Given the description of an element on the screen output the (x, y) to click on. 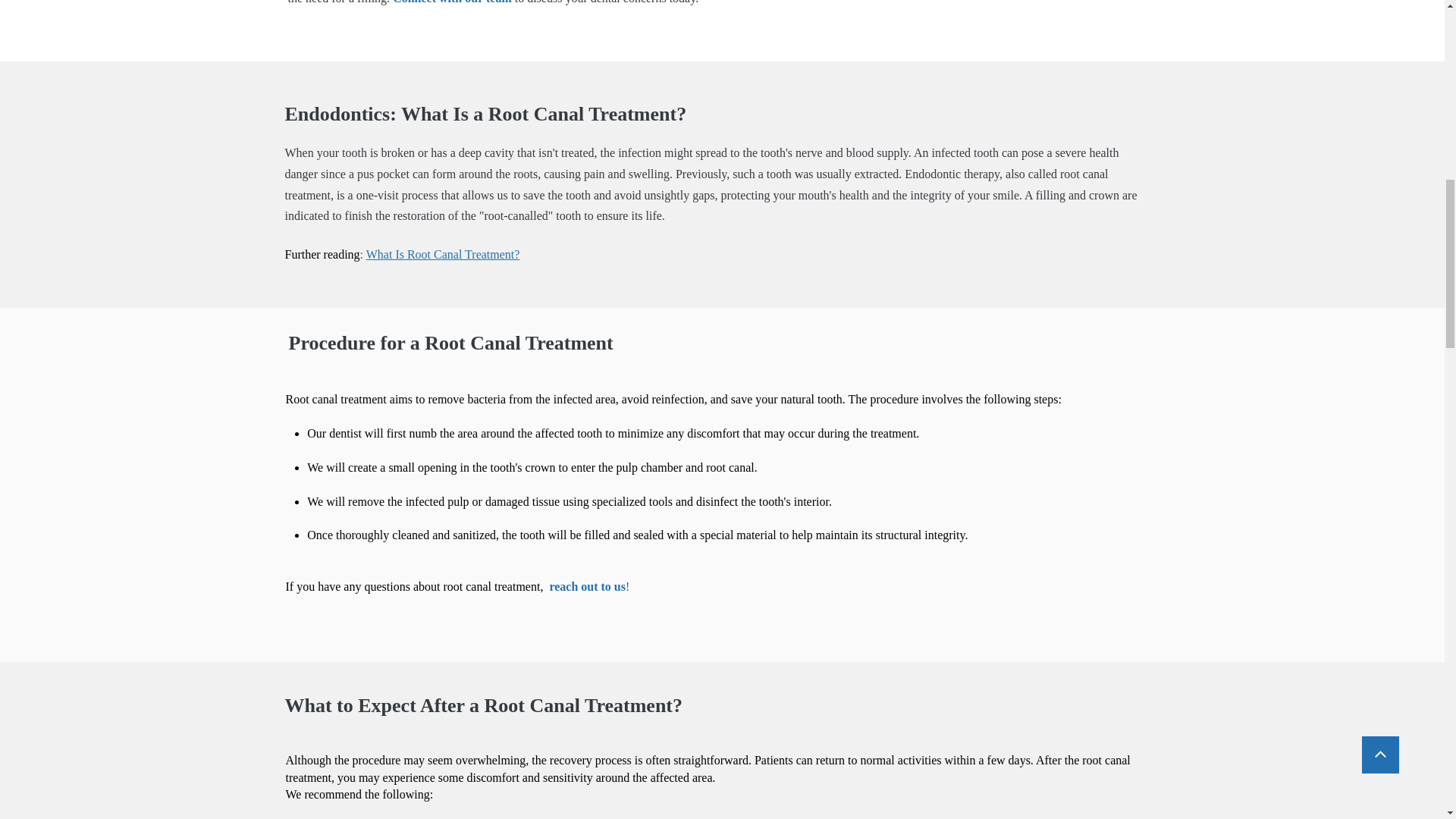
What Is Root Canal Treatment? (442, 254)
reach out to us! (588, 585)
Connect with our team (451, 2)
